Given the description of an element on the screen output the (x, y) to click on. 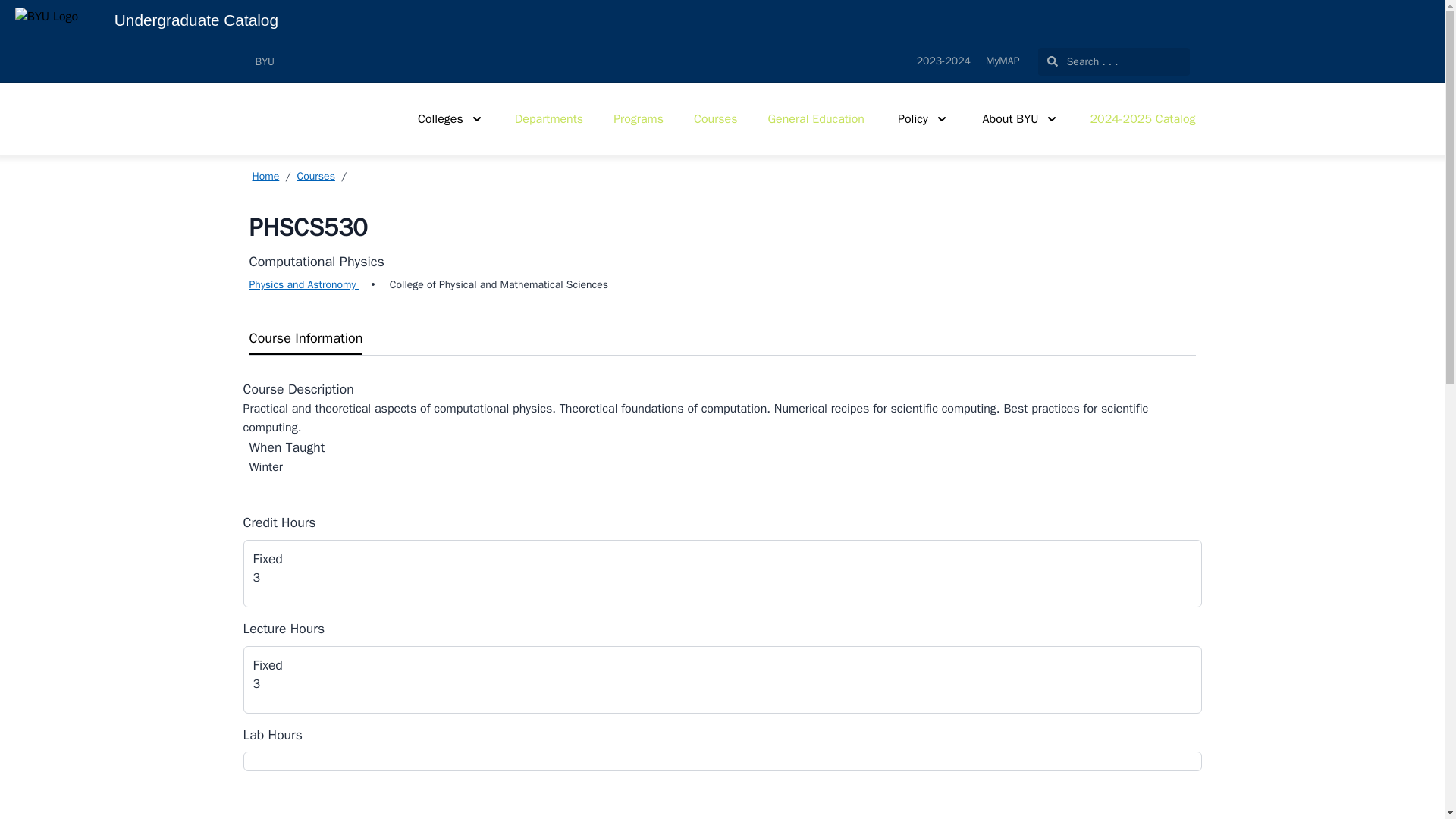
2023-2024 (944, 61)
BYU (263, 61)
Programs (637, 118)
MyMAP (1002, 61)
Search . . . (1112, 61)
2023-2024 (944, 61)
Colleges (449, 118)
General Education (816, 118)
MyMAP (1002, 61)
Policy (922, 118)
Courses (716, 118)
Departments (549, 118)
Course Information (721, 338)
Programs (637, 118)
Departments (549, 118)
